Given the description of an element on the screen output the (x, y) to click on. 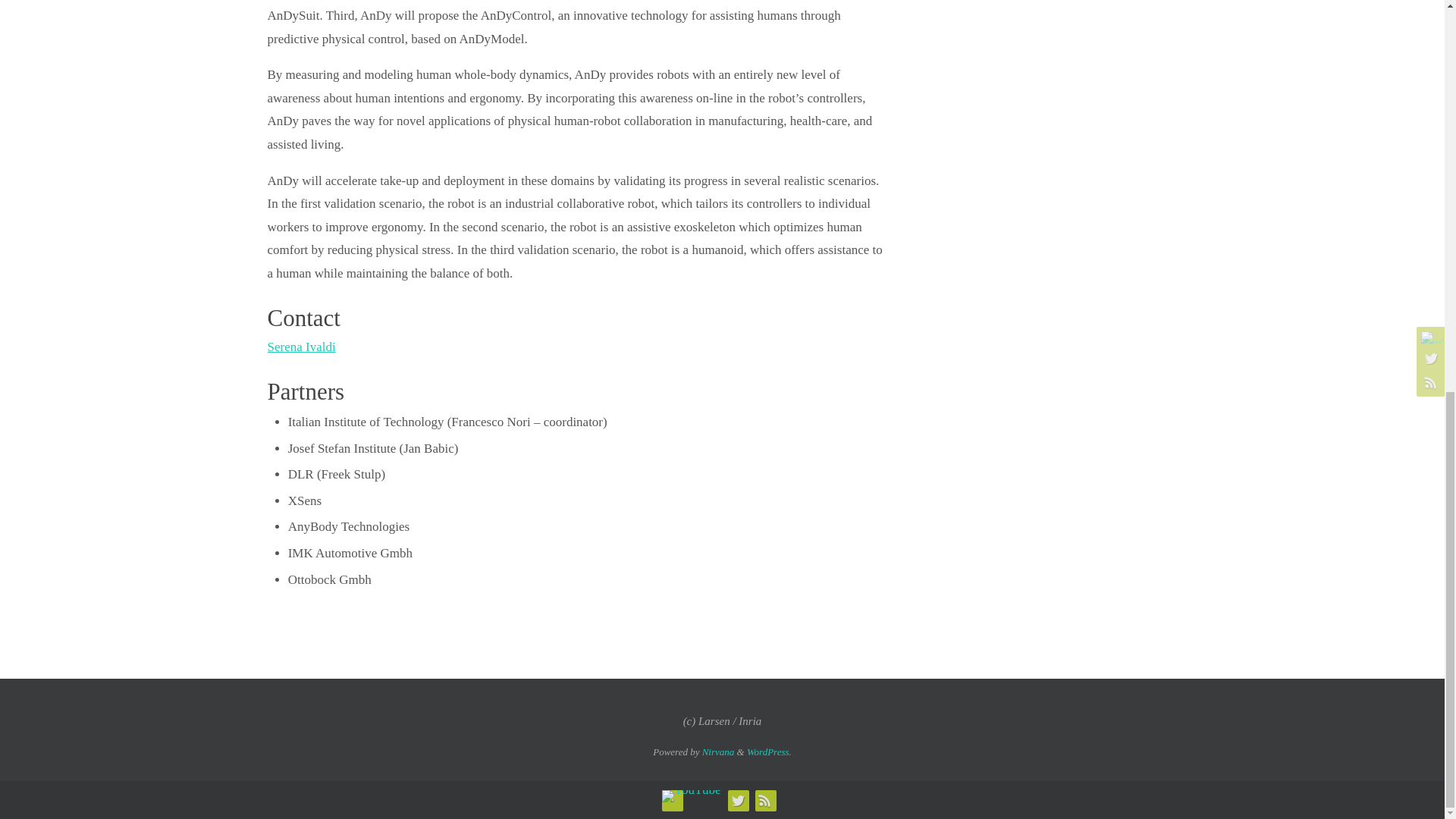
YouTube (691, 796)
Nirvana Theme by Cryout Creations (718, 751)
Semantic Personal Publishing Platform (769, 751)
Twitter (738, 799)
